Given the description of an element on the screen output the (x, y) to click on. 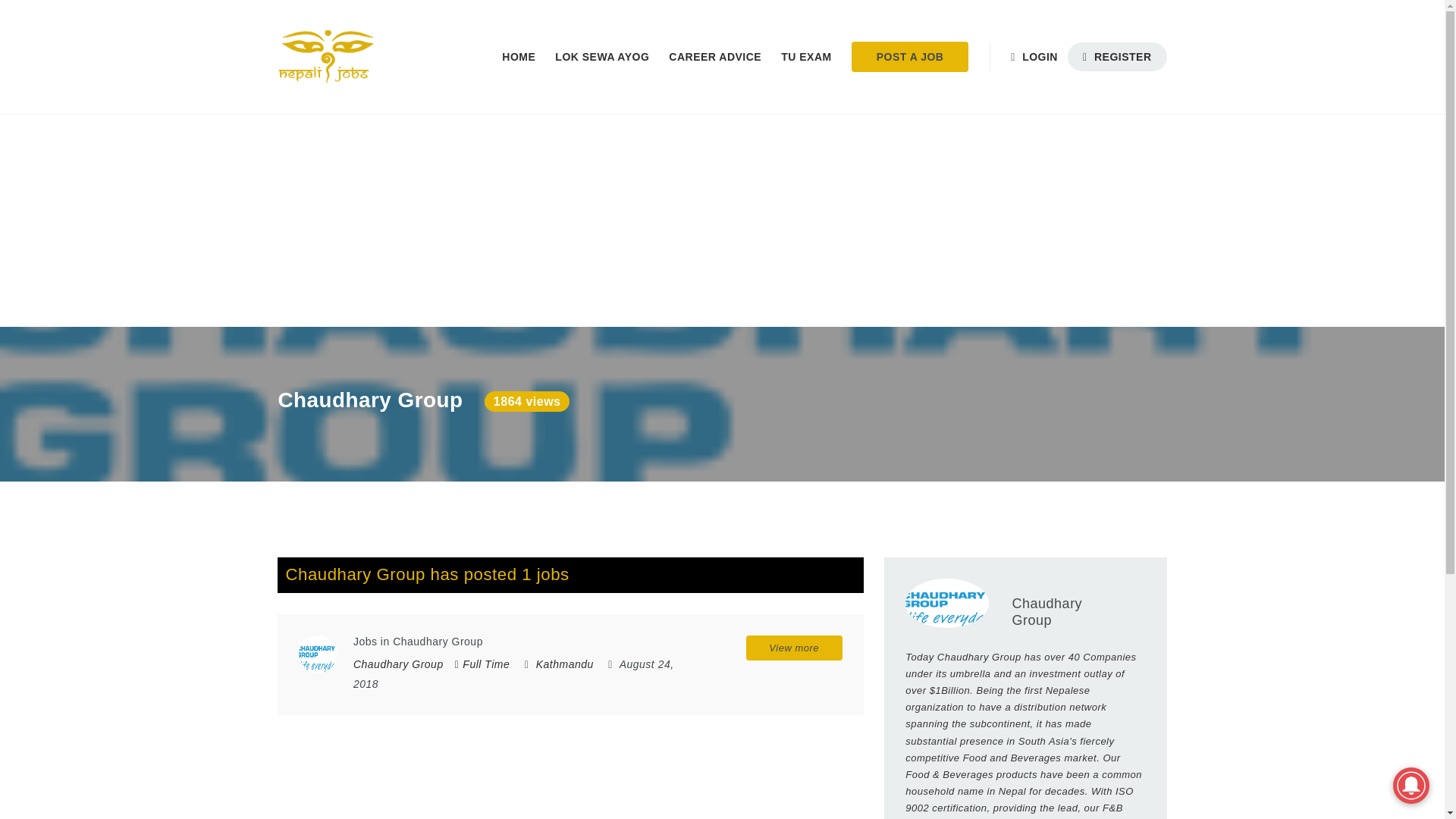
No.1 job finder in Nepal (325, 56)
CAREER ADVICE (715, 56)
Full Time (482, 664)
Jobs in Chaudhary Group (317, 653)
HOME (518, 56)
POST A JOB (910, 56)
 REGISTER (1117, 56)
TU EXAM (806, 56)
Chaudhary Group (398, 664)
Permanent link to: "Jobs in Chaudhary Group" (418, 641)
Kathmandu (564, 664)
 LOGIN (1038, 56)
Jobs in Chaudhary Group (418, 641)
LOK SEWA AYOG (601, 56)
